Given the description of an element on the screen output the (x, y) to click on. 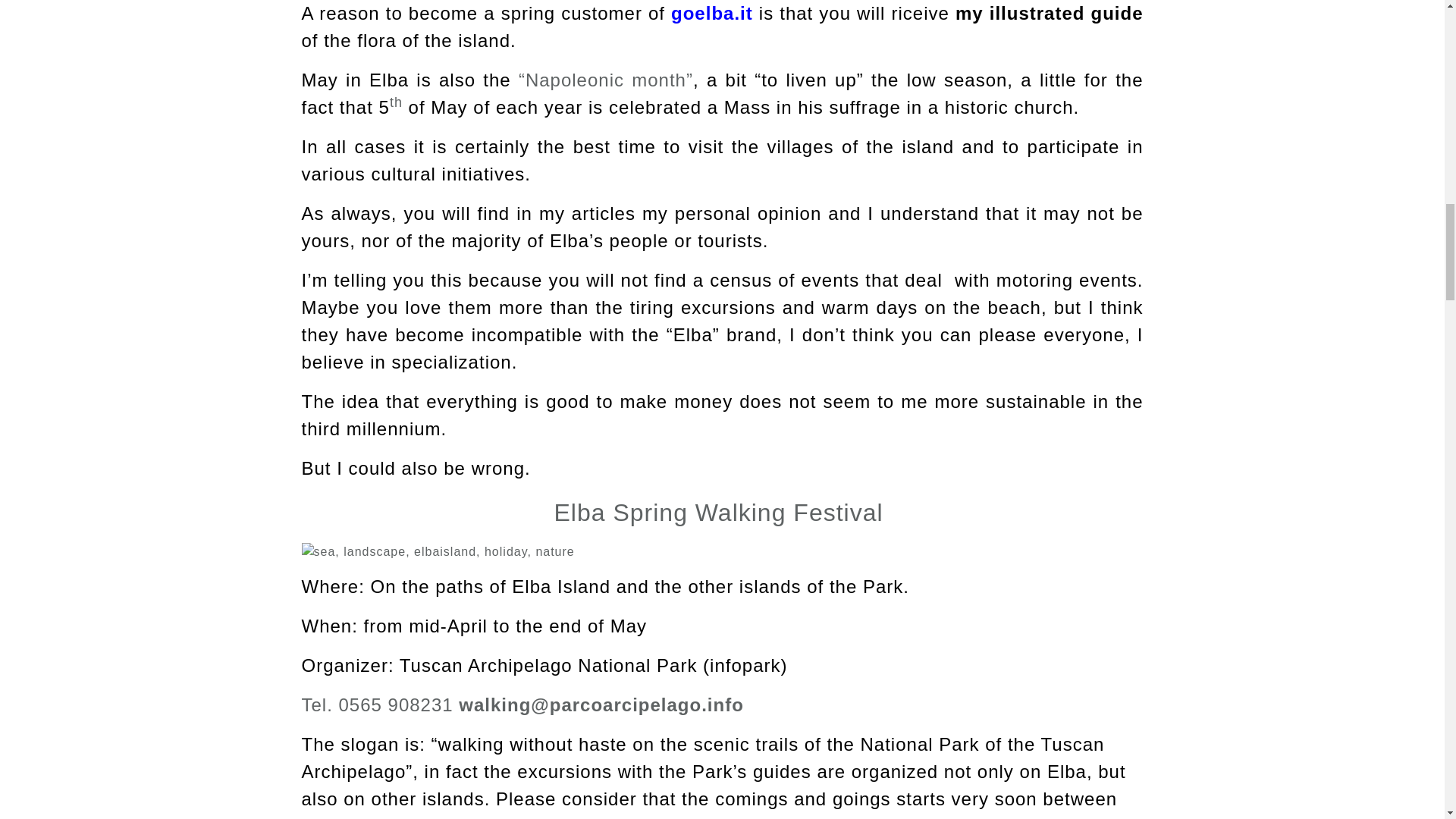
goelba.it (711, 13)
my illustrated guide (1048, 13)
